Given the description of an element on the screen output the (x, y) to click on. 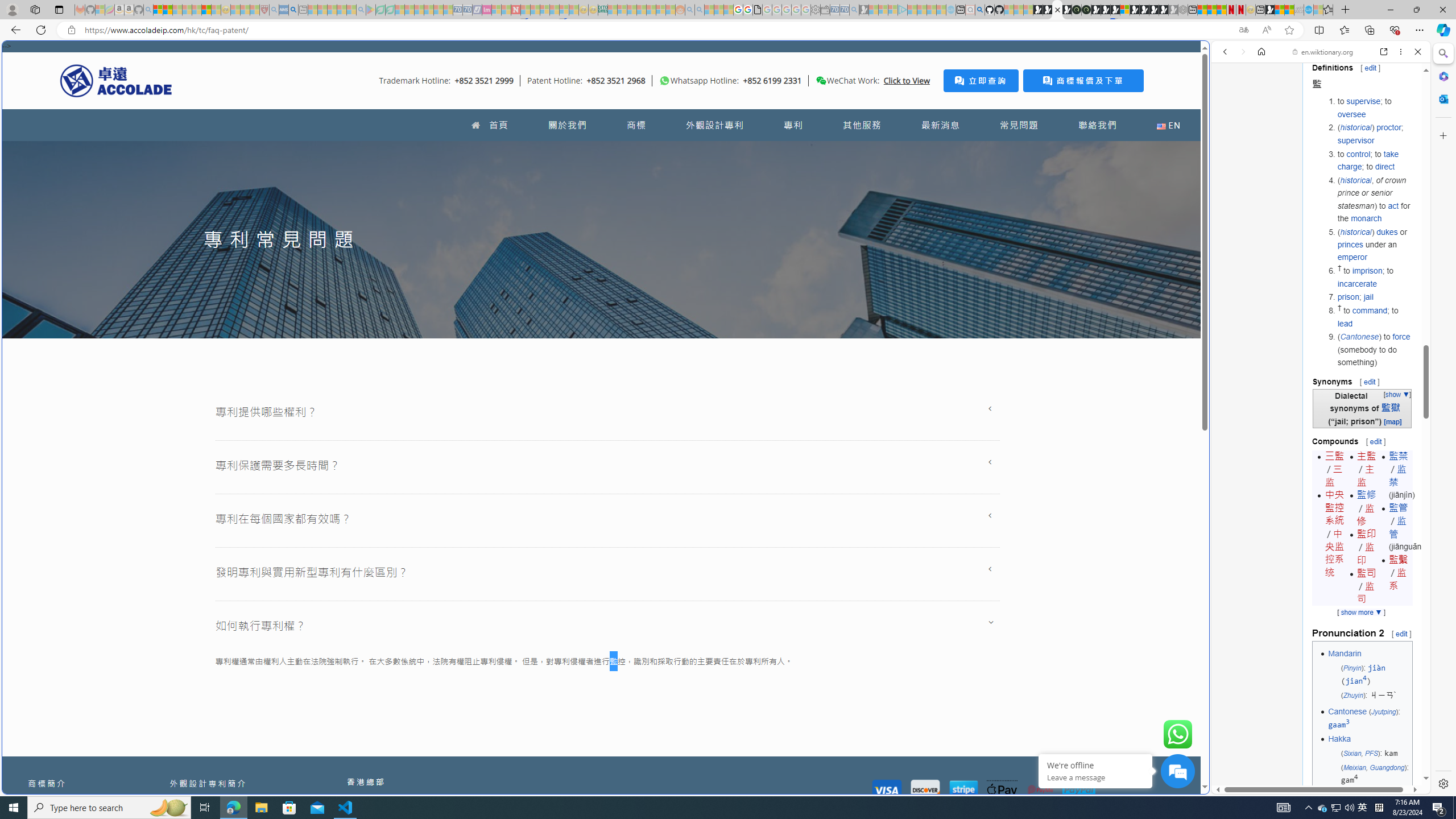
to supervise; to oversee (1374, 107)
Cantonese (1347, 711)
(Cantonese) to force(somebody to do something) (1374, 349)
